Given the description of an element on the screen output the (x, y) to click on. 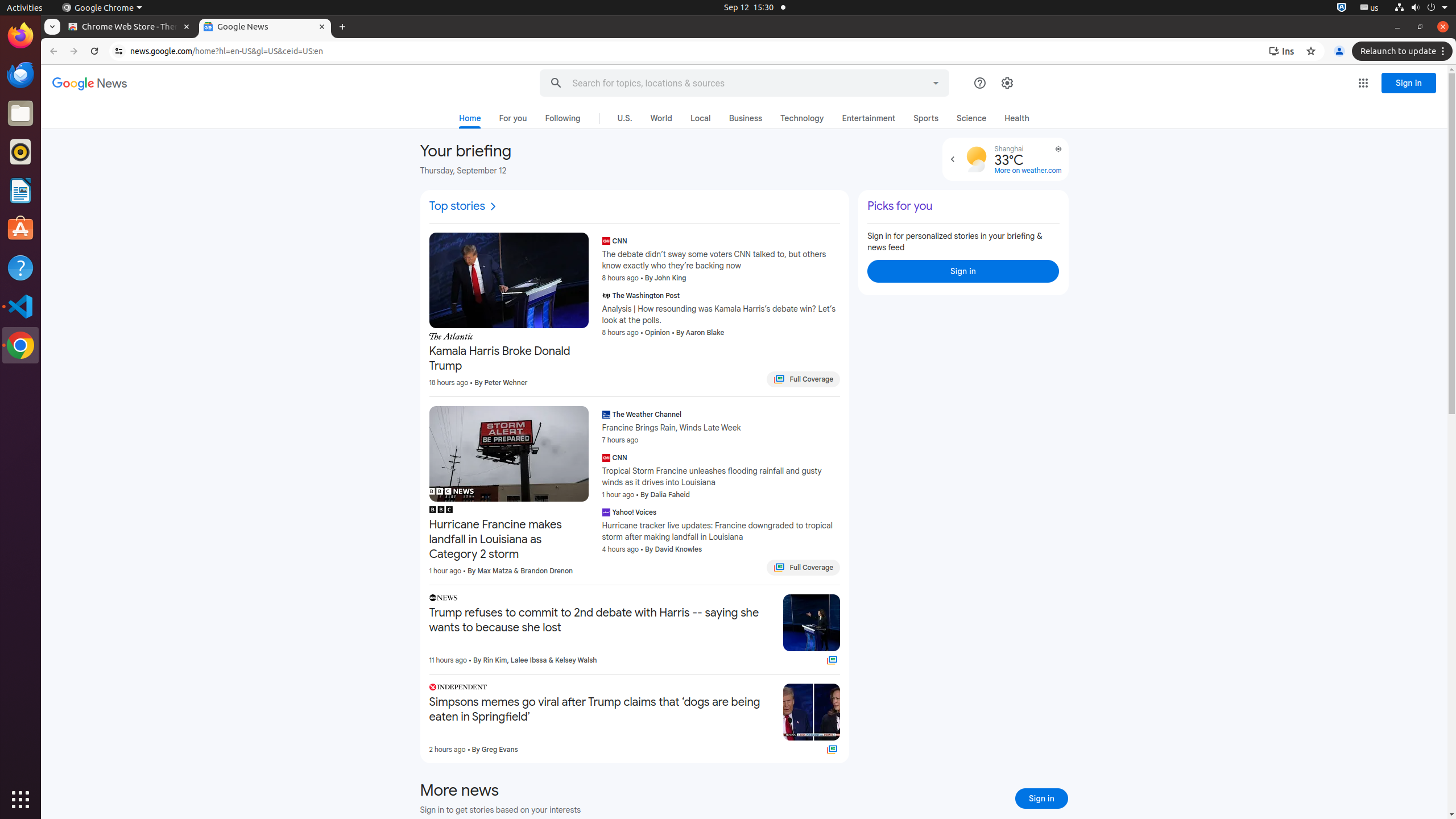
Relaunch to update Element type: push-button (1403, 50)
Google apps Element type: push-button (1362, 82)
Sign in Element type: push-button (963, 270)
Bookmark this tab Element type: push-button (1310, 51)
Install Google News Element type: push-button (1284, 51)
